Given the description of an element on the screen output the (x, y) to click on. 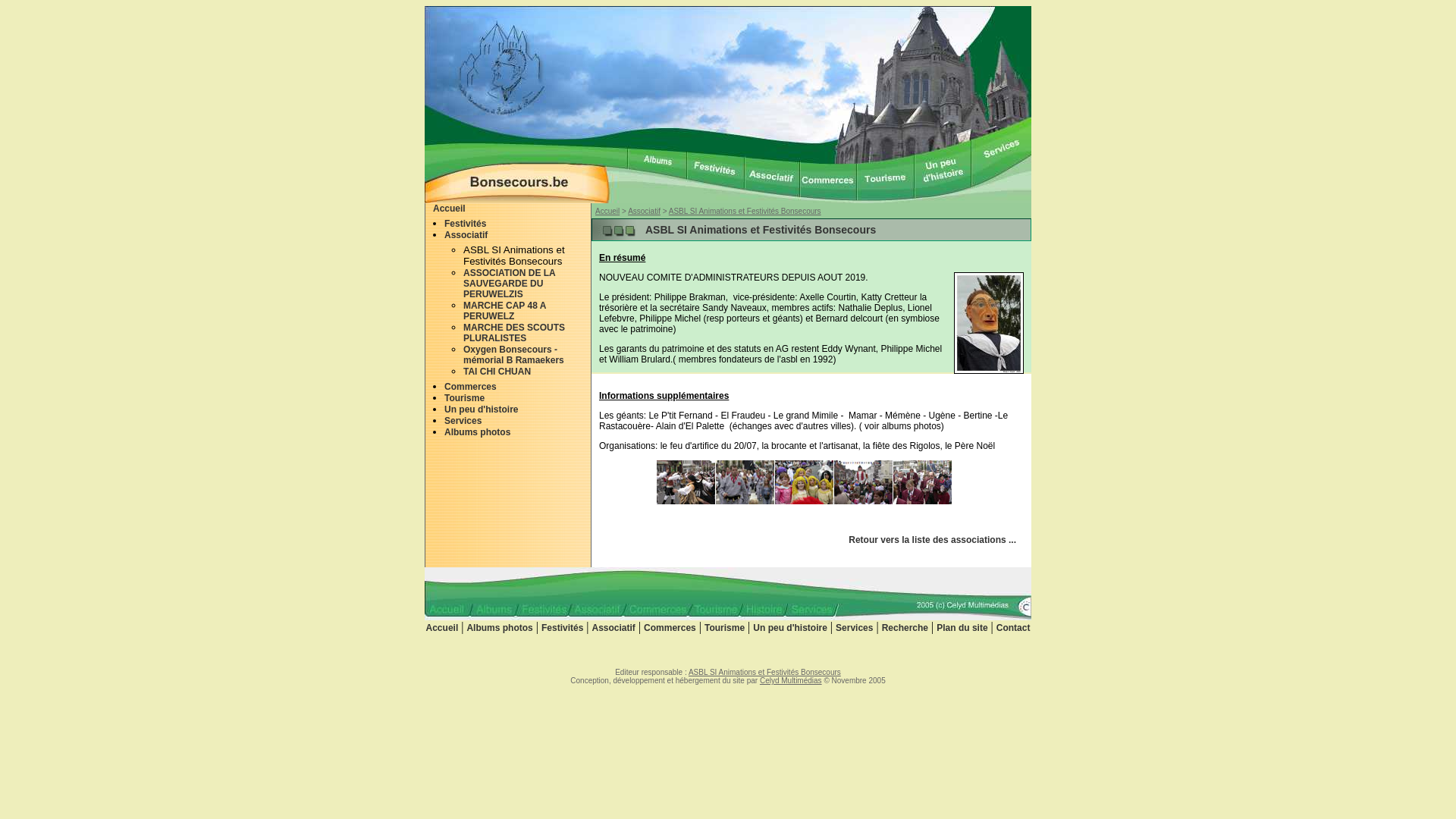
Plan du site Element type: text (961, 627)
Un peu d'histoire Element type: text (790, 627)
Accueil Element type: text (449, 208)
Associatif Element type: text (643, 210)
MARCHE CAP 48 A PERUWELZ Element type: text (504, 310)
Retour vers la liste des associations ... Element type: text (932, 539)
Recherche Element type: text (904, 627)
Contact Element type: text (1013, 627)
Accueil Element type: text (442, 627)
Services Element type: text (462, 420)
Albums photos Element type: text (499, 627)
Albums photos Element type: text (477, 431)
Accueil Element type: text (607, 210)
Un peu d'histoire Element type: text (481, 409)
Commerces Element type: text (470, 386)
Tourisme Element type: text (724, 627)
Tourisme Element type: text (464, 397)
ASSOCIATION DE LA SAUVEGARDE DU PERUWELZIS Element type: text (509, 283)
Commerces Element type: text (669, 627)
Associatif Element type: text (465, 234)
Services Element type: text (853, 627)
Associatif Element type: text (613, 627)
TAI CHI CHUAN Element type: text (496, 371)
MARCHE DES SCOUTS PLURALISTES Element type: text (513, 332)
